Given the description of an element on the screen output the (x, y) to click on. 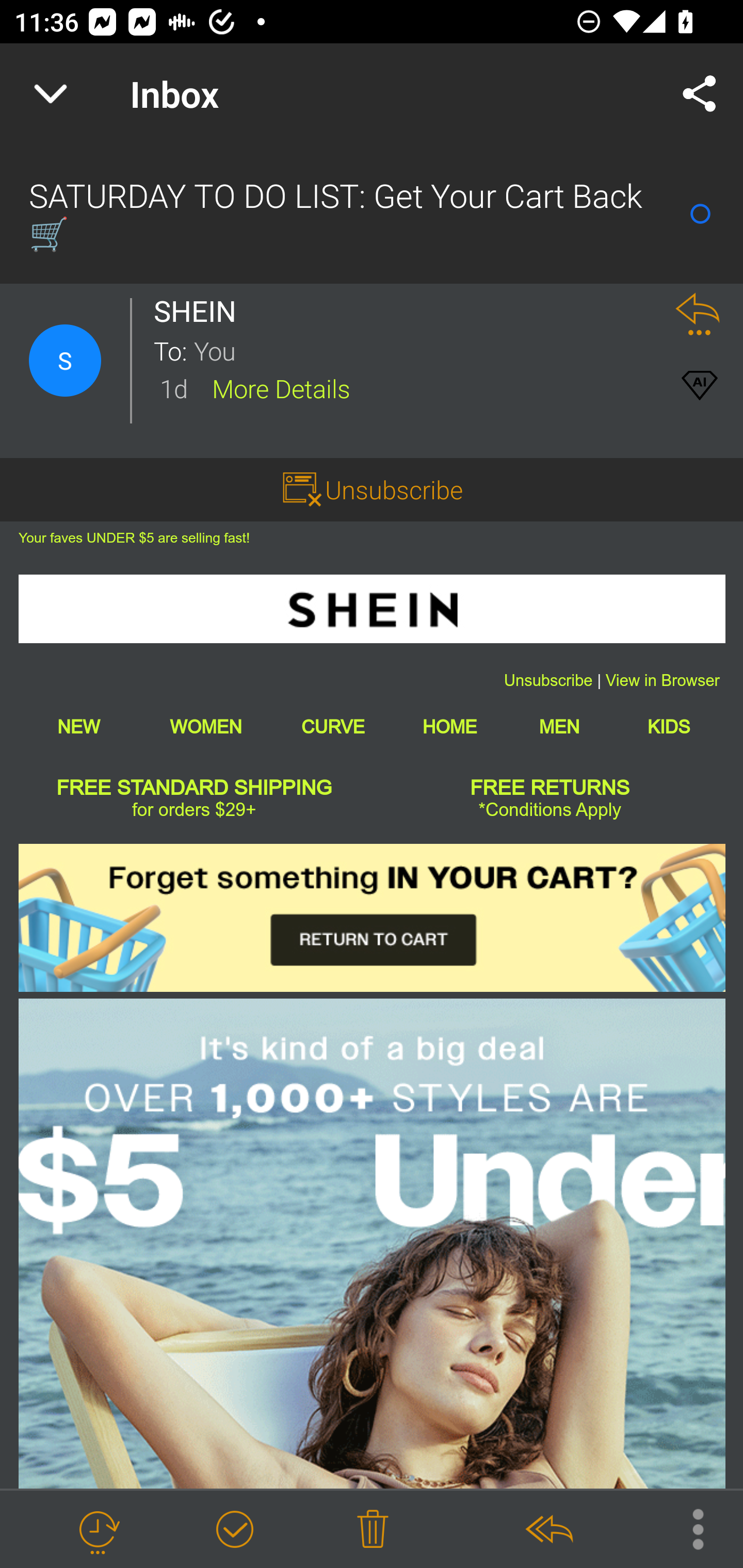
Navigate up (50, 93)
Share (699, 93)
Mark as Read (699, 213)
SHEIN (200, 310)
Contact Details (64, 360)
You (422, 349)
More Details (280, 387)
Unsubscribe (393, 488)
Your faves UNDER $5 are selling fast! (134, 537)
SHEIN (371, 608)
Unsubscribe (547, 681)
View in Browser (661, 681)
NEW (78, 727)
WOMEN (205, 727)
CURVE (332, 727)
HOME (449, 727)
MEN (559, 727)
KIDS (668, 727)
FREE STANDARD SHIPPING (194, 788)
FREE RETURNS (549, 788)
for orders $29+ (193, 810)
*Conditions Apply (549, 810)
RETURN TO CART (371, 917)
SHOP NOW (371, 1243)
More Options (687, 1528)
Snooze (97, 1529)
Mark as Done (234, 1529)
Delete (372, 1529)
Reply All (548, 1529)
